Given the description of an element on the screen output the (x, y) to click on. 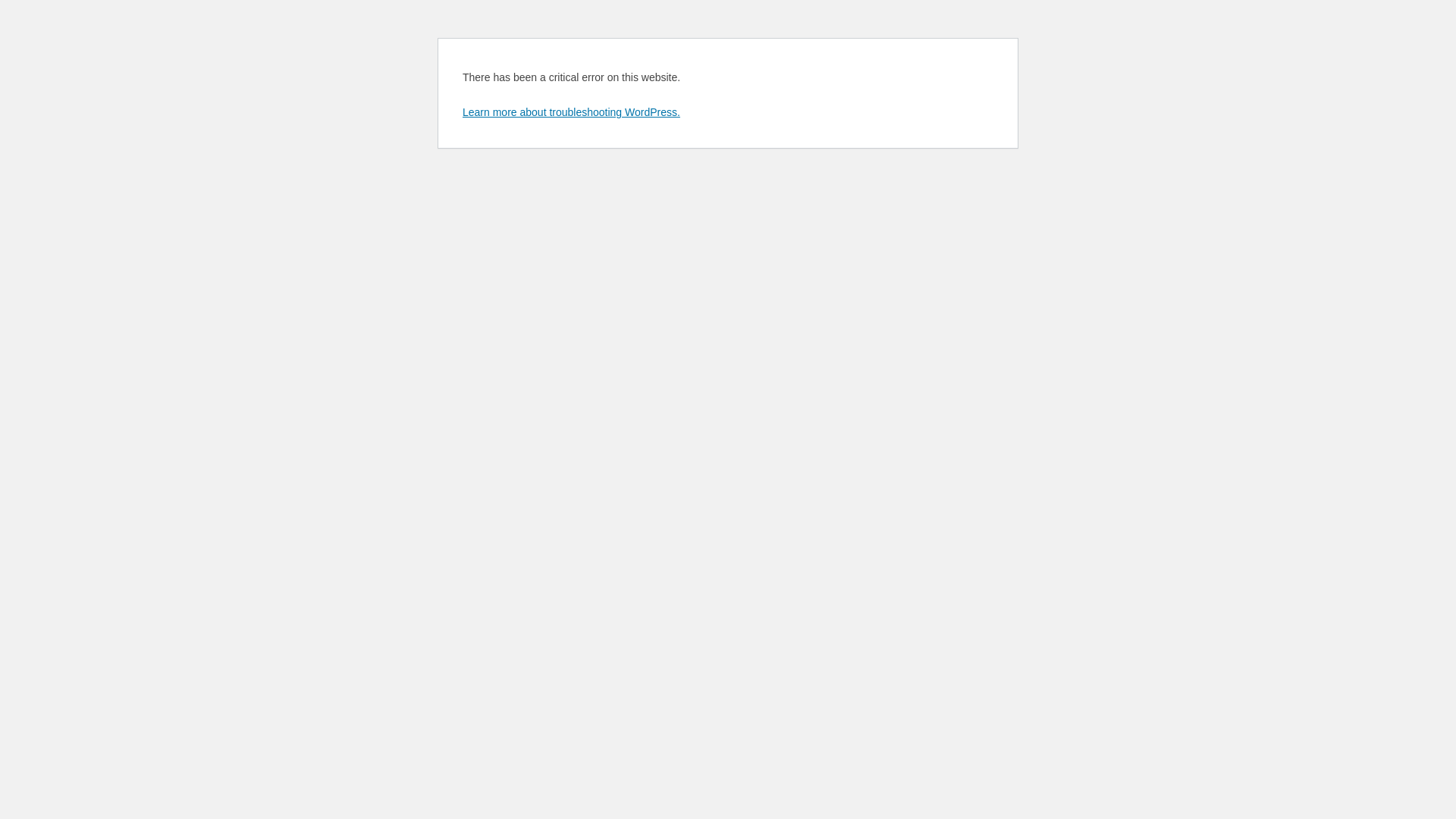
Learn more about troubleshooting WordPress. Element type: text (571, 112)
